Given the description of an element on the screen output the (x, y) to click on. 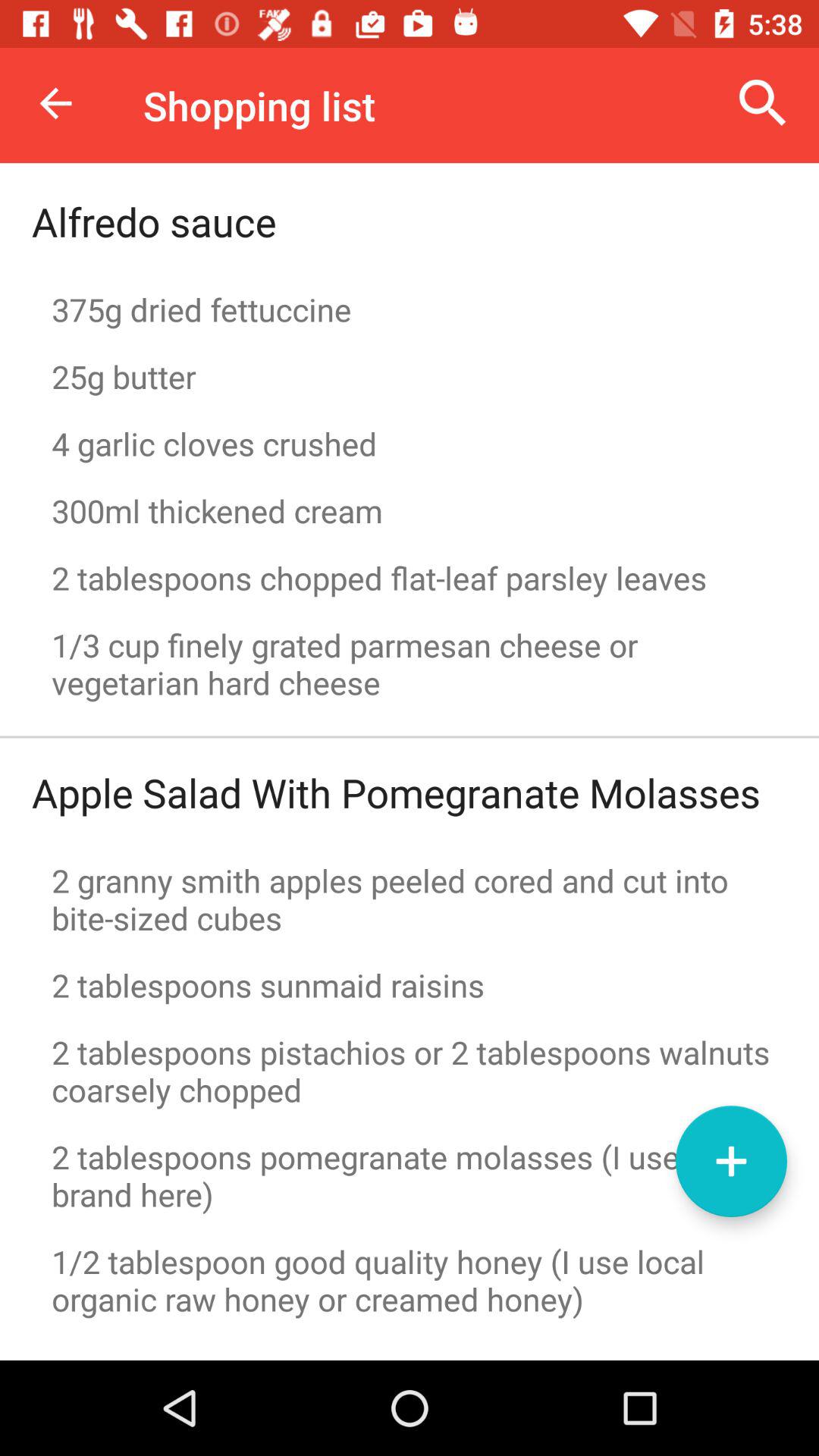
choose alfredo sauce (154, 221)
